Given the description of an element on the screen output the (x, y) to click on. 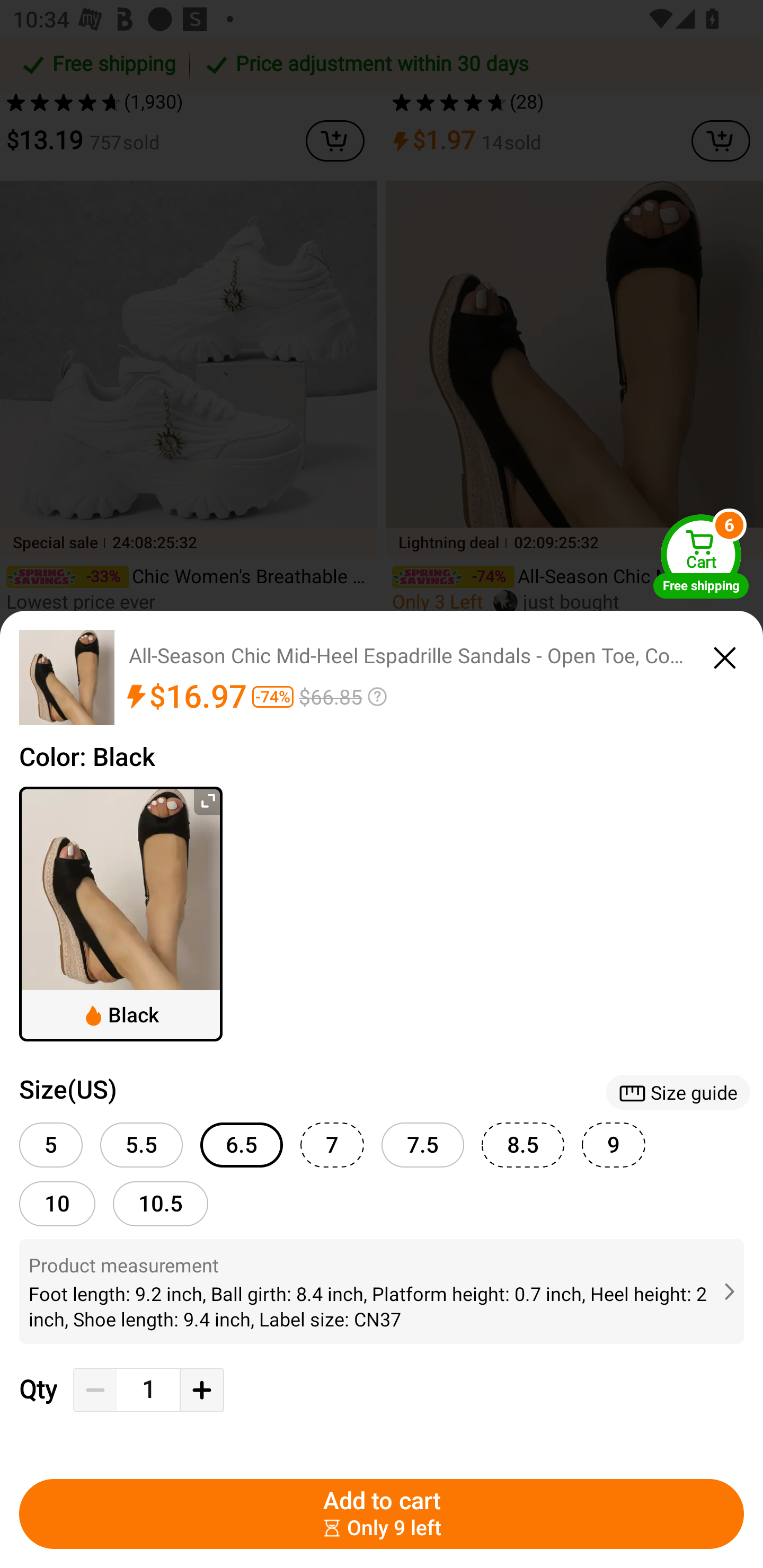
Cart Free shipping Cart (701, 555)
close (724, 655)
Black ￼Black (120, 914)
￼Size guide (677, 1092)
 5 (50, 1145)
 5.5 (141, 1145)
 6.5 (241, 1145)
 7 (331, 1145)
 7.5 (422, 1145)
 8.5 (522, 1145)
 9 (613, 1145)
 10 (57, 1203)
 10.5 (160, 1203)
Decrease Quantity Button (95, 1389)
Add Quantity Button (201, 1389)
1 (148, 1389)
Add to cart ￼￼Only 9 left (381, 1513)
